Given the description of an element on the screen output the (x, y) to click on. 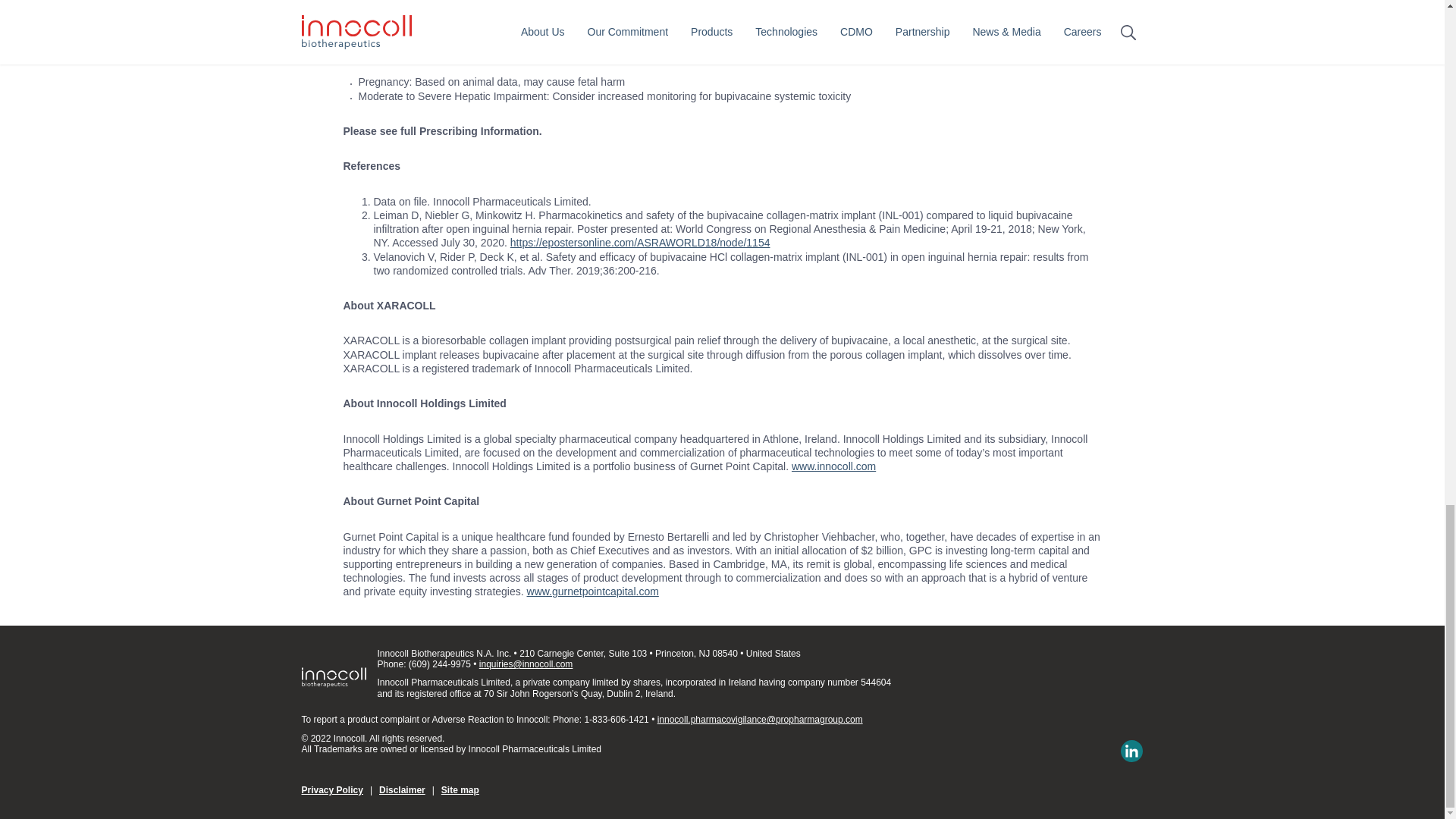
Disclaimer (401, 789)
Site map (460, 789)
www.gurnetpointcapital.com (593, 591)
www.innocoll.com (834, 466)
Privacy Policy (331, 789)
